Given the description of an element on the screen output the (x, y) to click on. 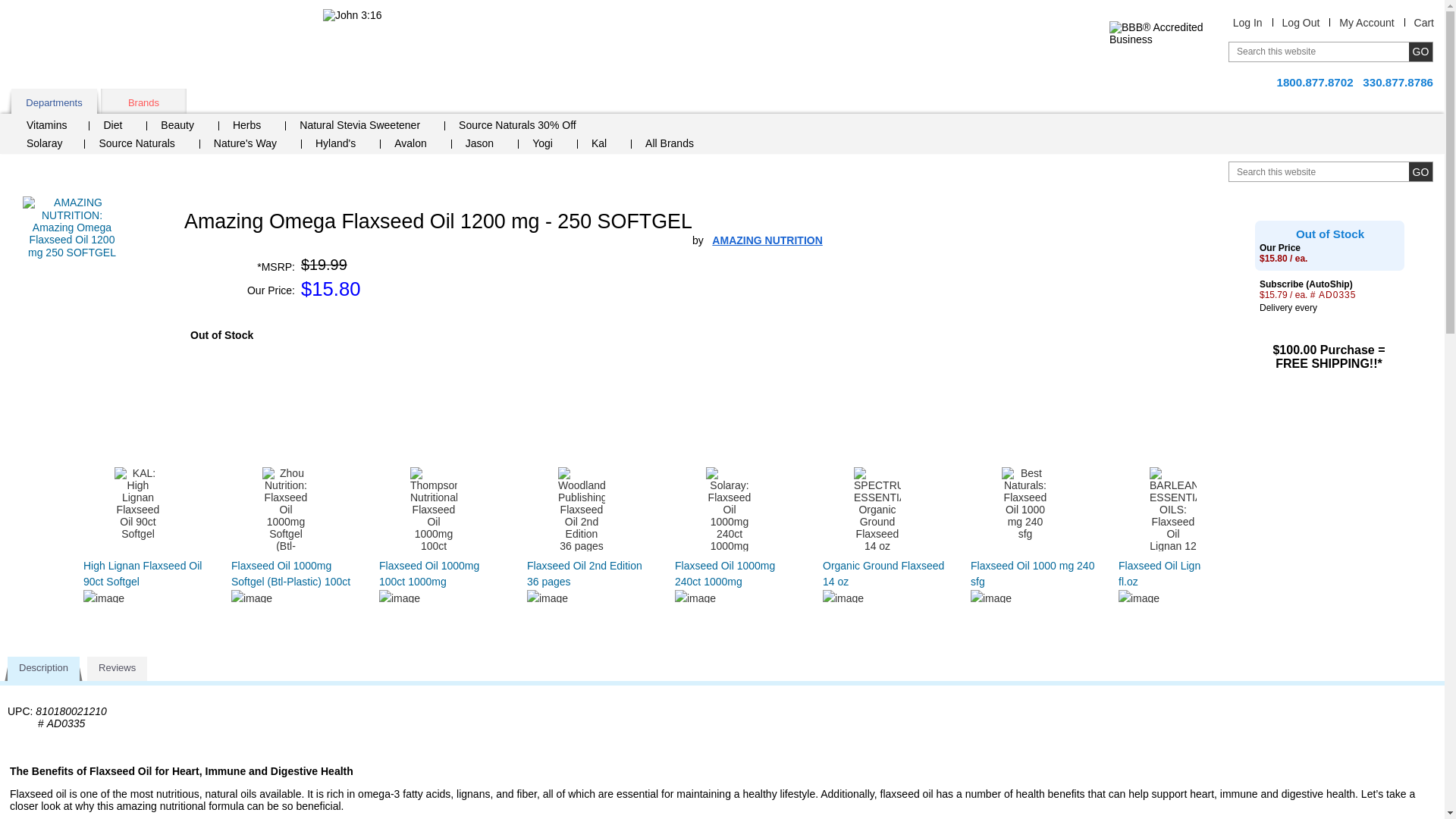
Diet (117, 126)
go (1420, 51)
My Account (1366, 22)
Organic Ground Flaxseed 14 oz (882, 573)
Flaxseed Oil 1000 mg 240 sfg (1032, 573)
Yogi (548, 144)
AMAZING NUTRITION (766, 240)
Natural Stevia Sweetener (365, 126)
Solaray (51, 144)
Flaxseed Oil Lignan 12 fl.oz (1172, 573)
Beauty (183, 126)
Herbs (251, 126)
Vitamins (53, 126)
Flaxseed Oil 1000mg 100ct 1000mg (428, 573)
Departments (54, 100)
